Given the description of an element on the screen output the (x, y) to click on. 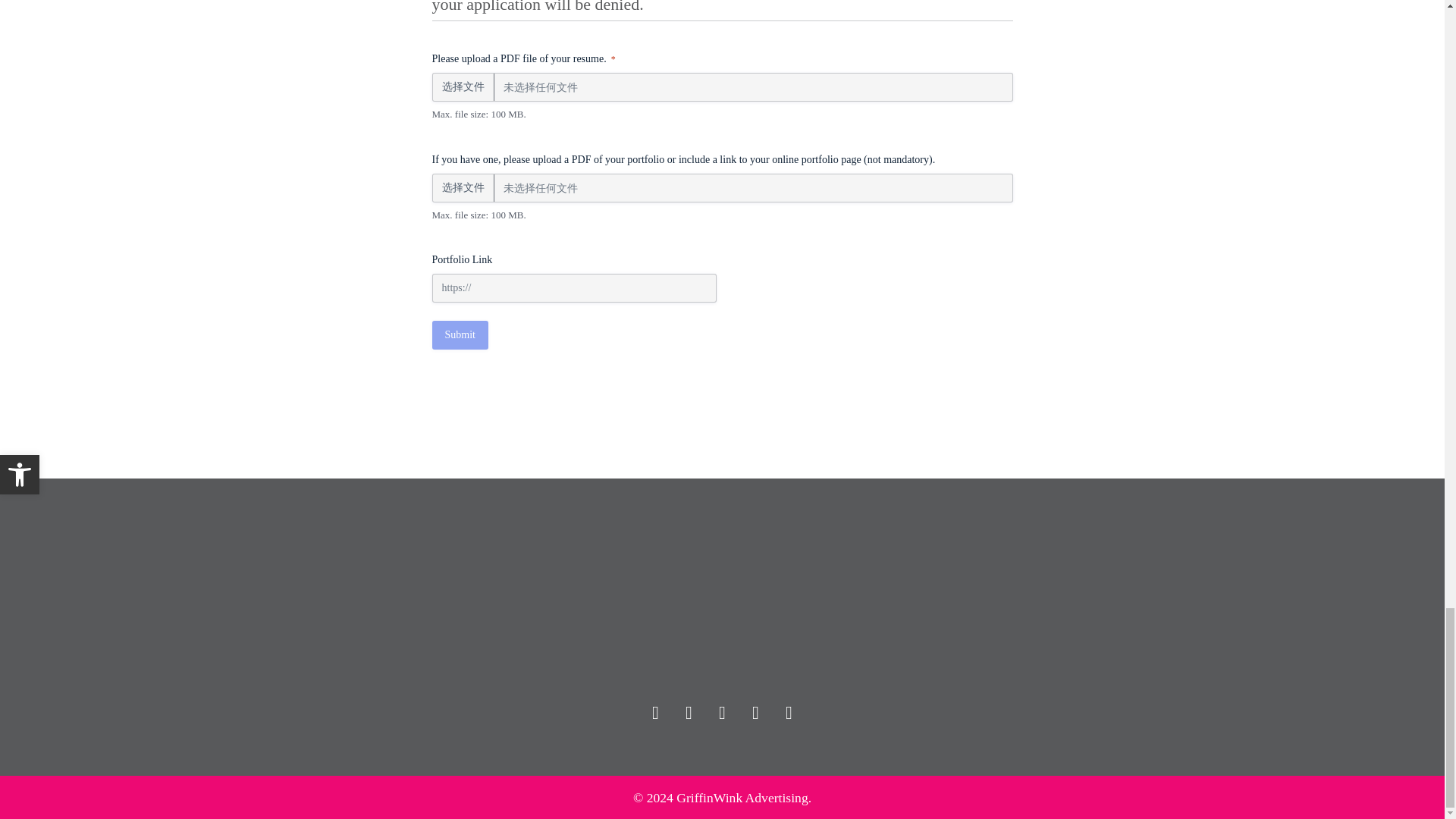
Submit (459, 335)
